Given the description of an element on the screen output the (x, y) to click on. 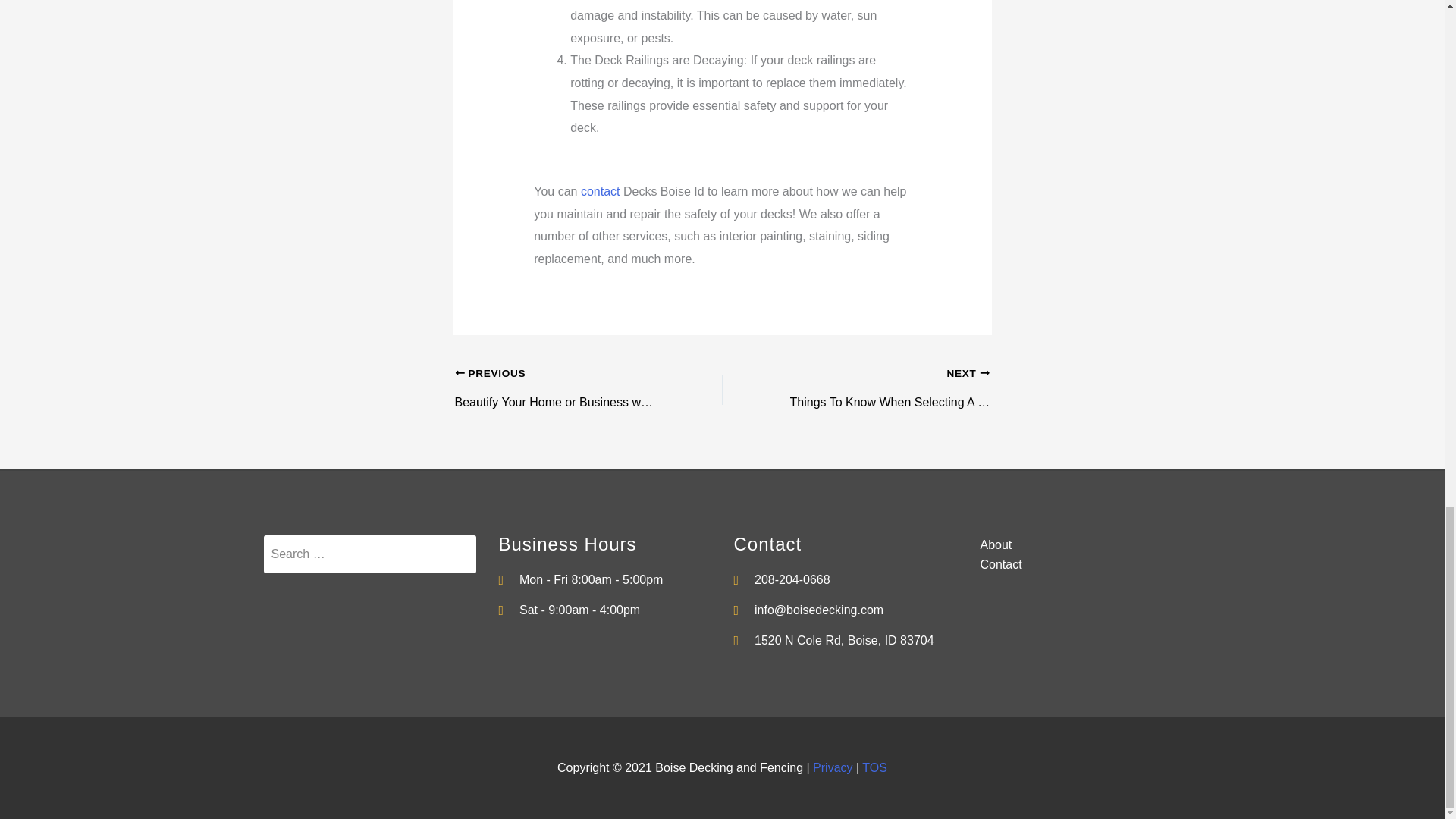
contact (600, 191)
Beautify Your Home or Business with a New Fence in Boise Id (561, 375)
About (1074, 545)
Search (369, 554)
Contact (1074, 564)
Privacy (831, 767)
TOS (873, 767)
208-204-0668 (839, 579)
